Given the description of an element on the screen output the (x, y) to click on. 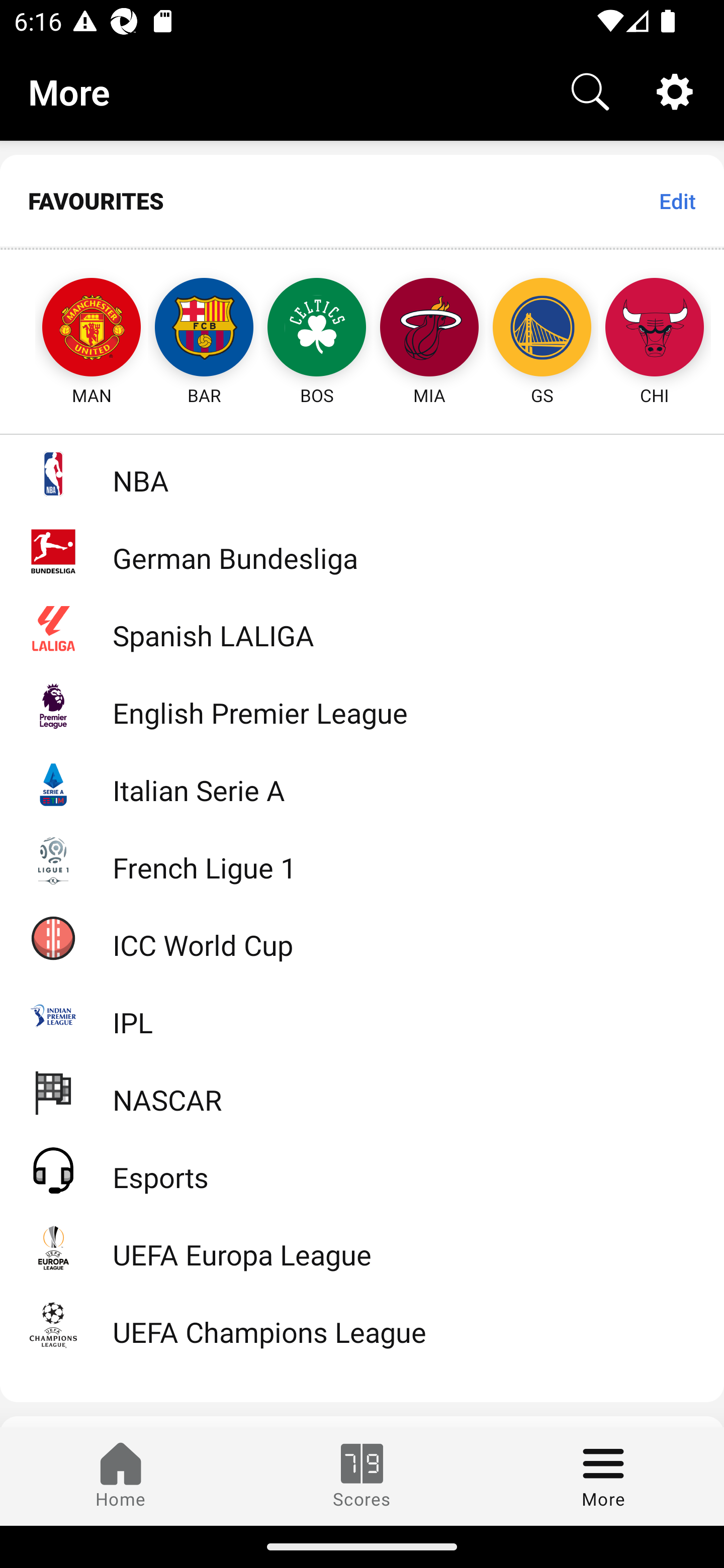
Search (590, 90)
Settings (674, 90)
Edit (676, 200)
MAN Manchester United (73, 328)
BAR Barcelona (203, 328)
BOS Boston Celtics (316, 328)
MIA Miami Heat (428, 328)
GS Golden State Warriors (541, 328)
CHI Chicago Bulls (654, 328)
NBA (362, 473)
German Bundesliga (362, 550)
Spanish LALIGA (362, 627)
English Premier League (362, 705)
Italian Serie A (362, 782)
French Ligue 1 (362, 859)
ICC World Cup (362, 937)
IPL (362, 1014)
NASCAR (362, 1091)
Esports (362, 1169)
UEFA Europa League (362, 1246)
UEFA Champions League (362, 1324)
Home (120, 1475)
Scores (361, 1475)
